Given the description of an element on the screen output the (x, y) to click on. 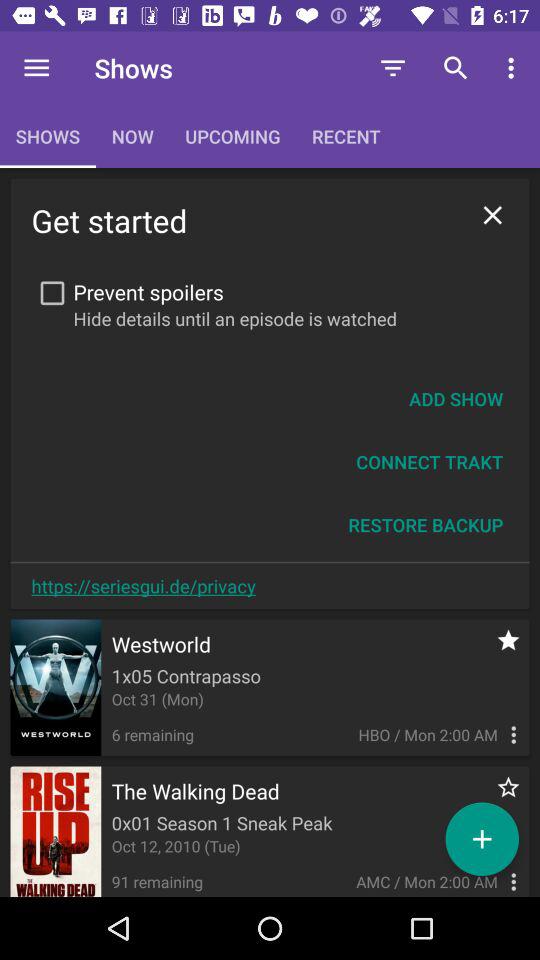
tap the item to the right of https seriesgui de (425, 524)
